Given the description of an element on the screen output the (x, y) to click on. 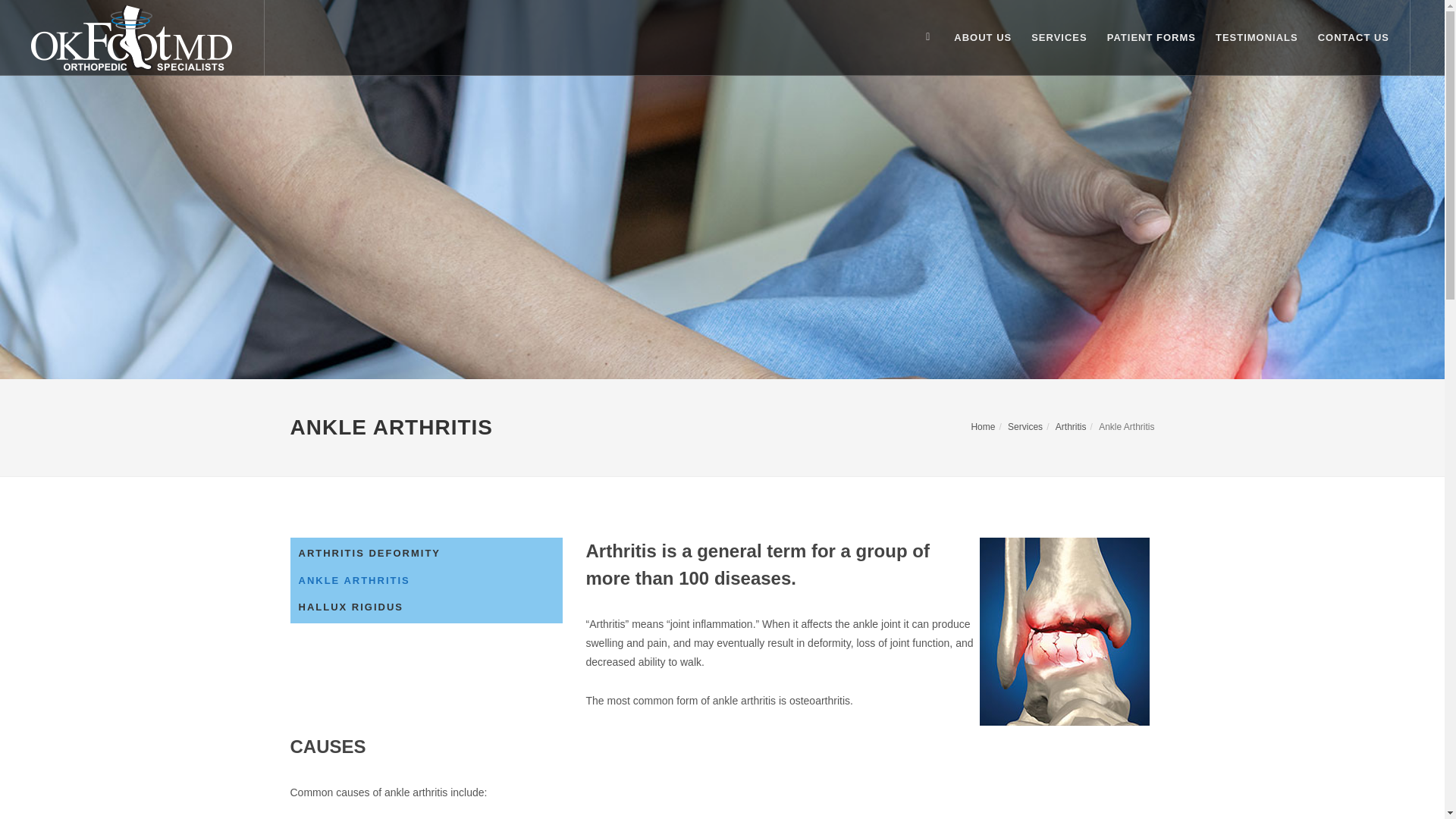
SERVICES (1059, 38)
TESTIMONIALS (1257, 38)
ABOUT US (982, 38)
CONTACT US (1352, 38)
PATIENT FORMS (1151, 38)
